Given the description of an element on the screen output the (x, y) to click on. 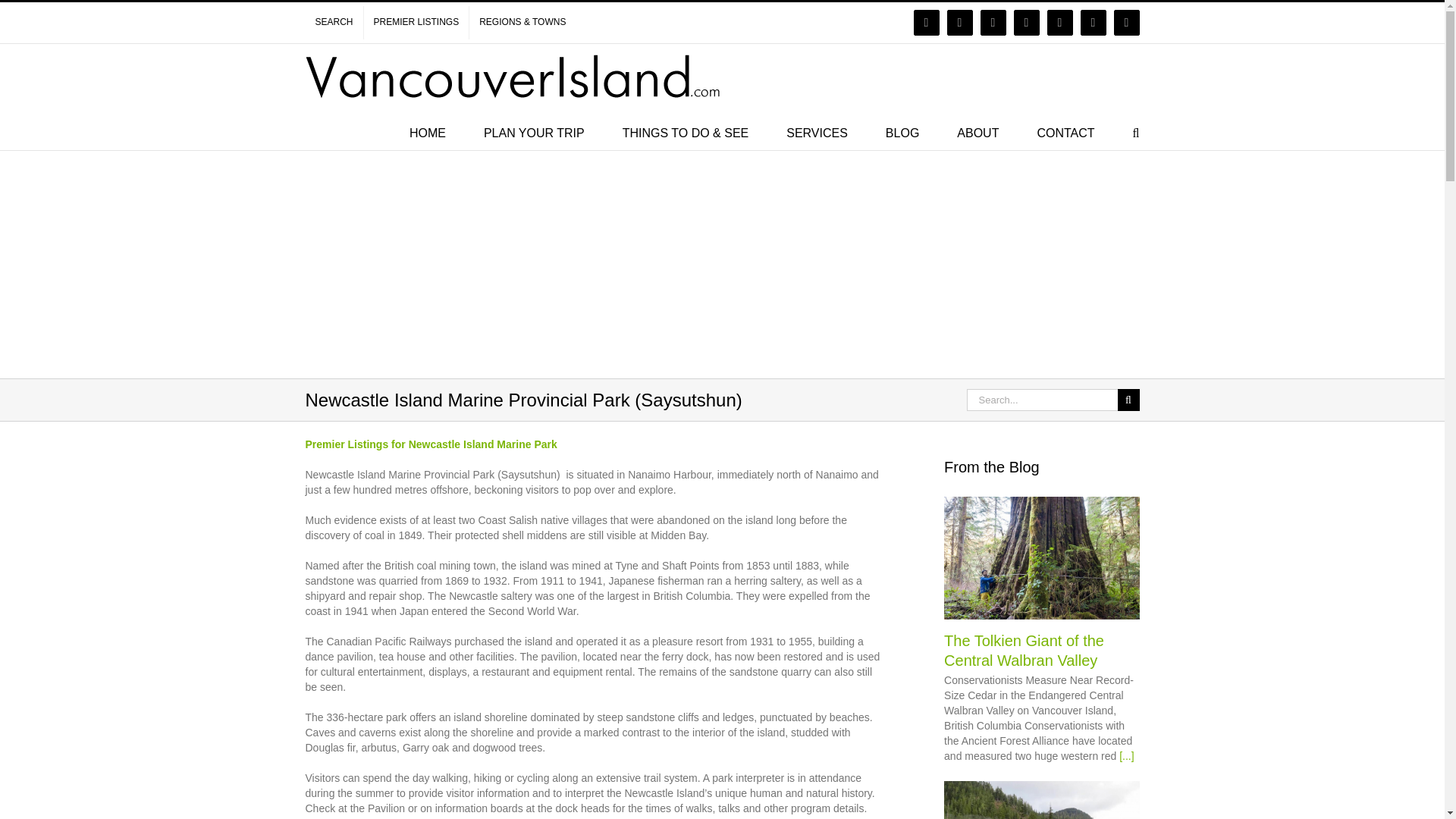
Flickr (959, 22)
Tumblr (1126, 22)
Instagram (1059, 22)
Pinterest (1093, 22)
YouTube (1026, 22)
SERVICES (816, 131)
Facebook (926, 22)
Twitter (992, 22)
How to reach us (1065, 131)
PREMIER LISTINGS (416, 22)
PLAN YOUR TRIP (534, 131)
HOME (427, 131)
SEARCH (333, 22)
